Given the description of an element on the screen output the (x, y) to click on. 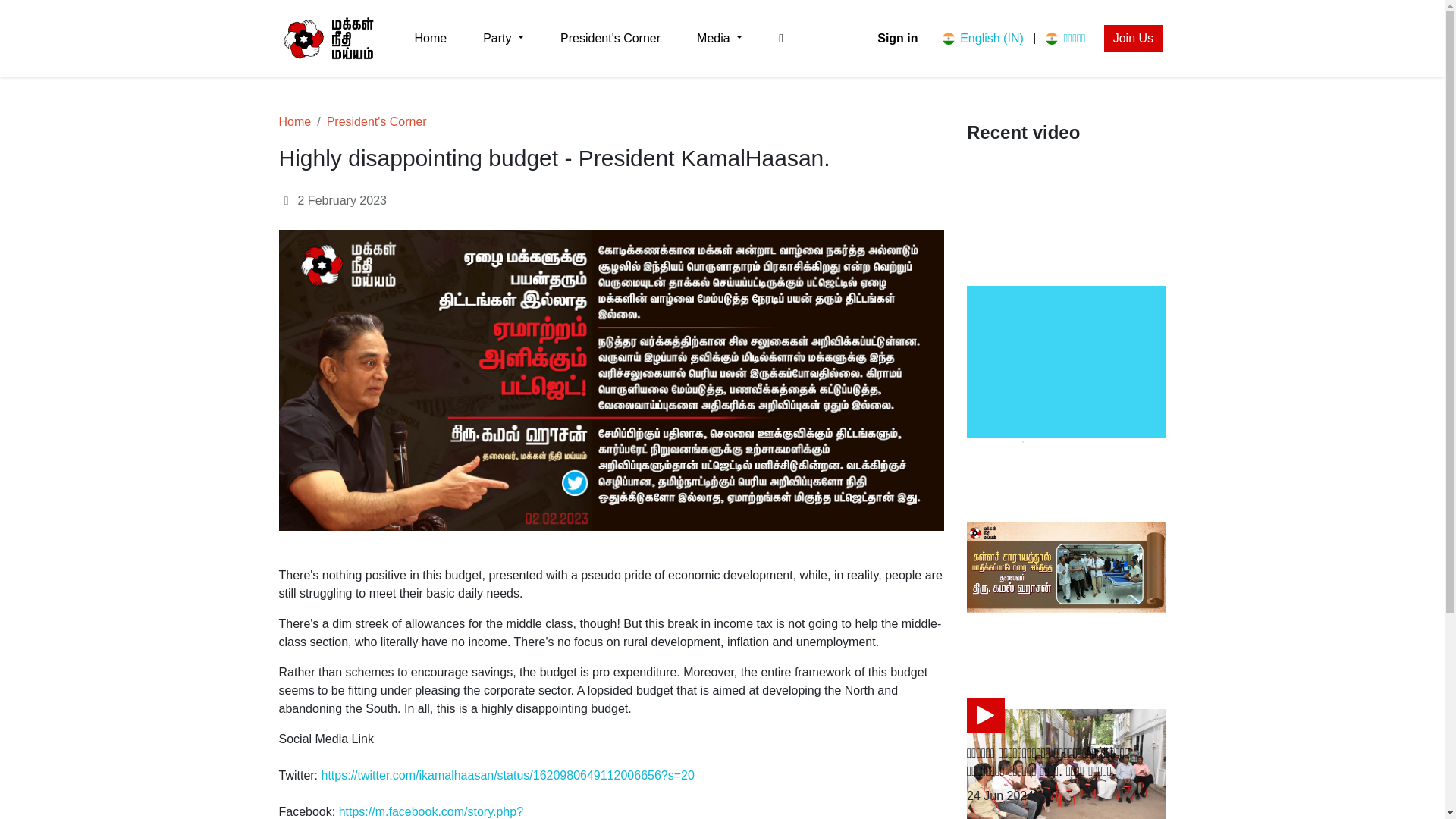
Media (719, 37)
Share on Twitter (1027, 647)
Join Us (1132, 37)
Home (430, 37)
Share on LinkedIn (1069, 647)
President's Corner (376, 121)
Sign in (897, 37)
President's Corner (609, 37)
Makkal Needhi Maiam (328, 38)
Party (502, 37)
Home (295, 121)
Share on Facebook (984, 647)
